Given the description of an element on the screen output the (x, y) to click on. 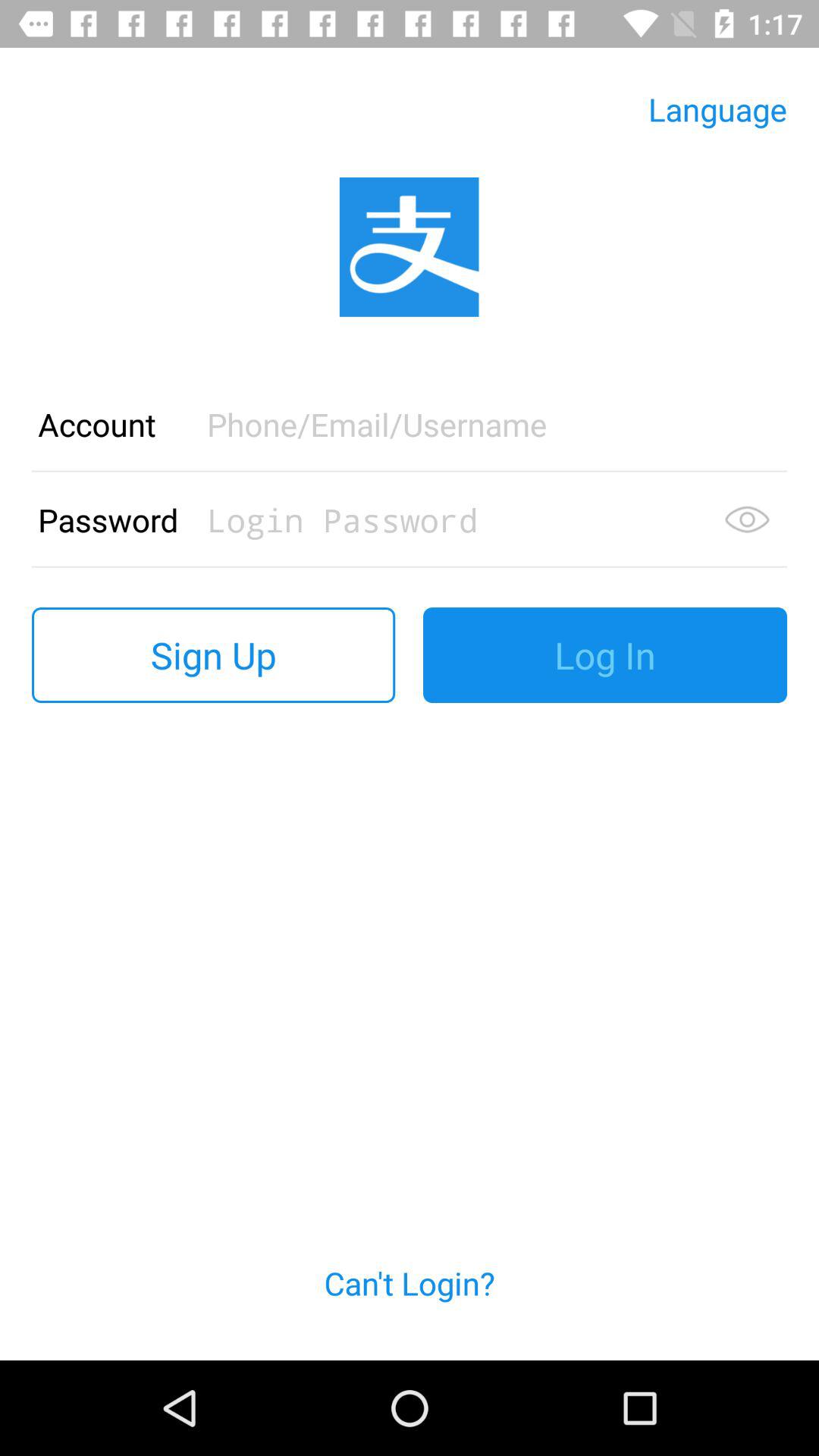
flip to the language item (717, 108)
